Given the description of an element on the screen output the (x, y) to click on. 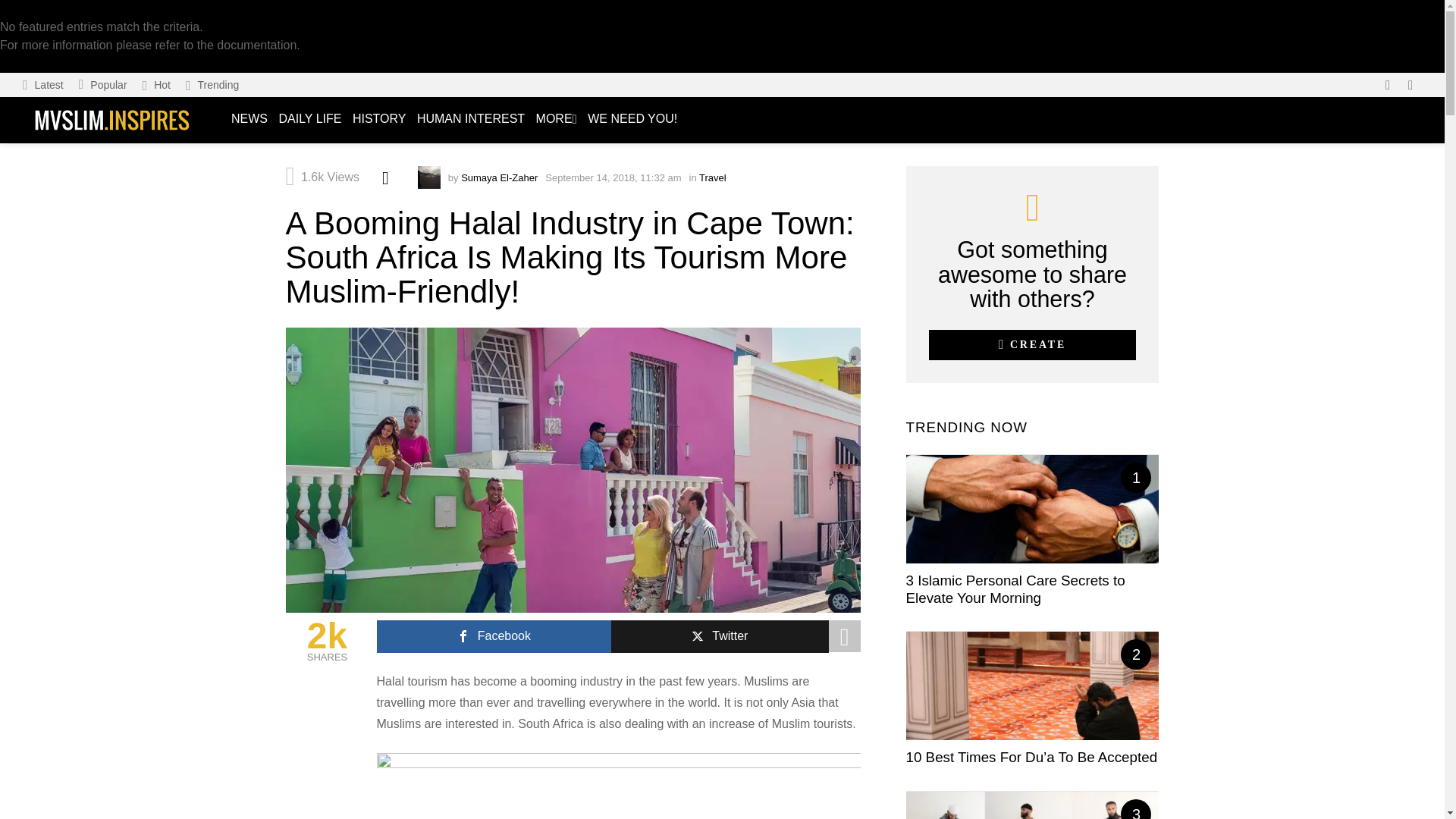
HUMAN INTEREST (470, 118)
Travel (712, 177)
Facebook (493, 635)
Popular (103, 84)
September 14, 2018, 11:32 am (612, 177)
DAILY LIFE (310, 118)
MORE (556, 119)
Trending (211, 84)
SEARCH (1410, 84)
Hot (156, 84)
